Given the description of an element on the screen output the (x, y) to click on. 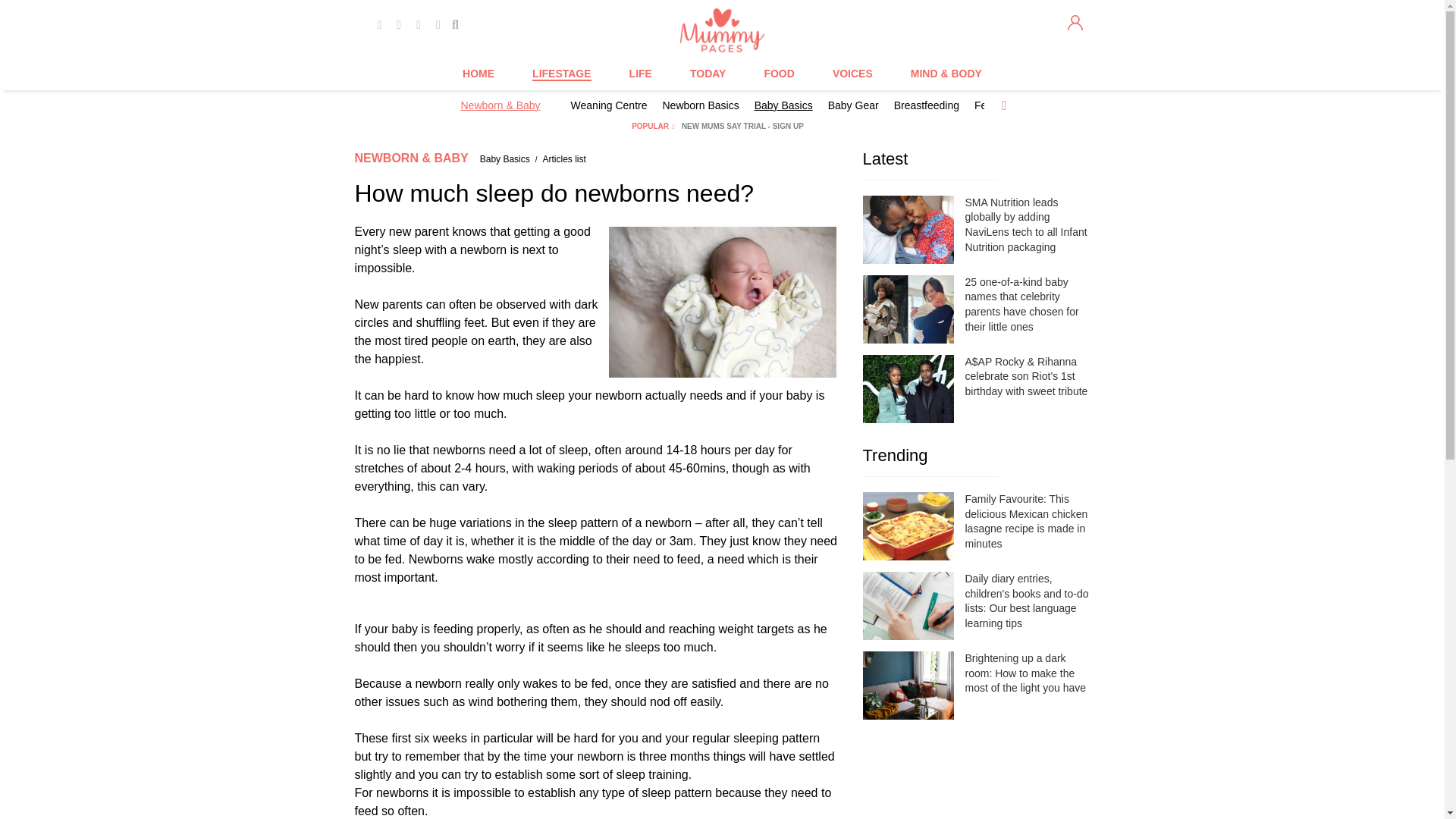
LIFESTAGE (561, 73)
TODAY (707, 73)
LIFE (640, 73)
HOME (478, 73)
FOOD (778, 73)
